Given the description of an element on the screen output the (x, y) to click on. 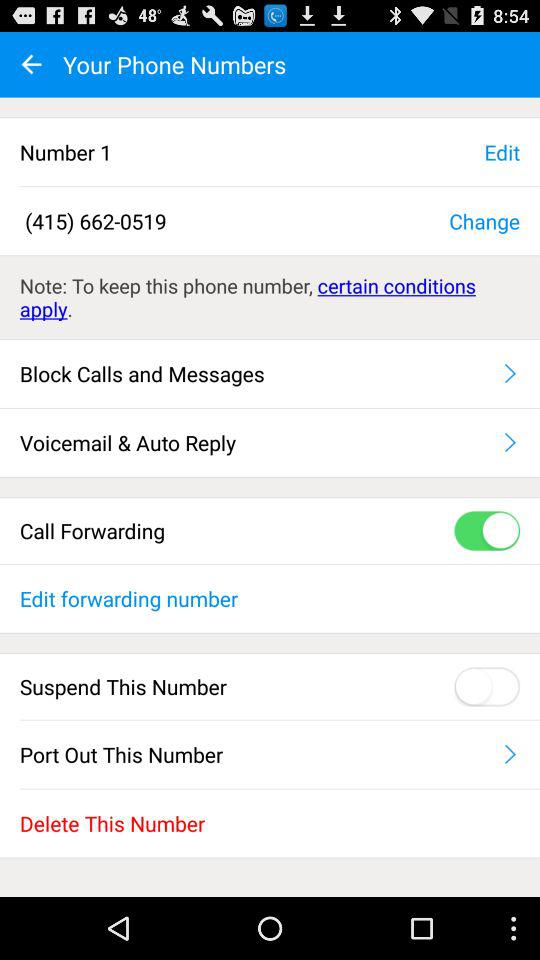
flip to the edit forwarding number (269, 598)
